Given the description of an element on the screen output the (x, y) to click on. 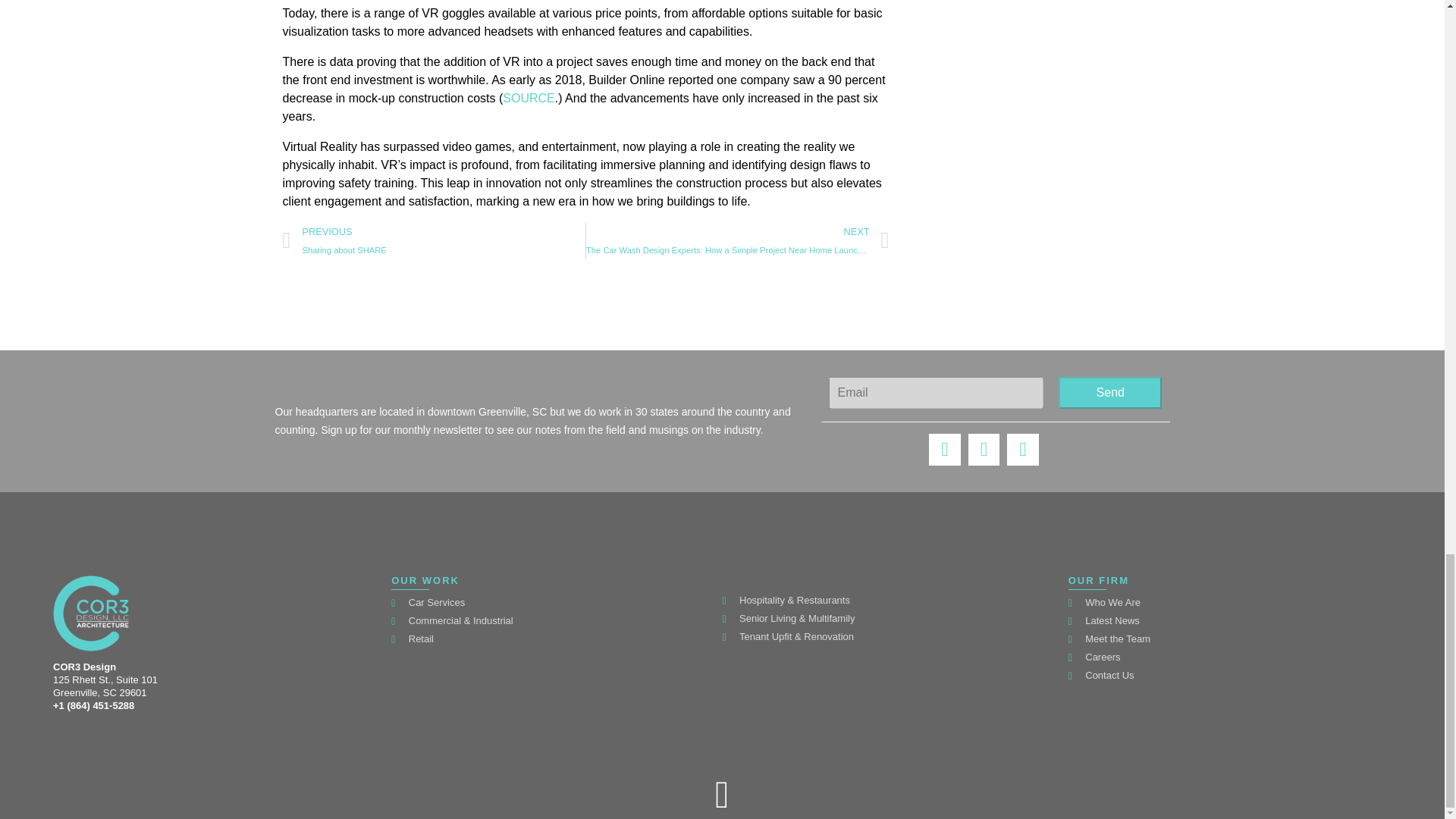
Retail (552, 638)
Careers (1229, 657)
Latest News (1229, 620)
Car Services (552, 602)
Contact Us (1229, 675)
Send (433, 240)
Meet the Team (1109, 392)
Who We Are (1229, 638)
SOURCE (1229, 602)
